Given the description of an element on the screen output the (x, y) to click on. 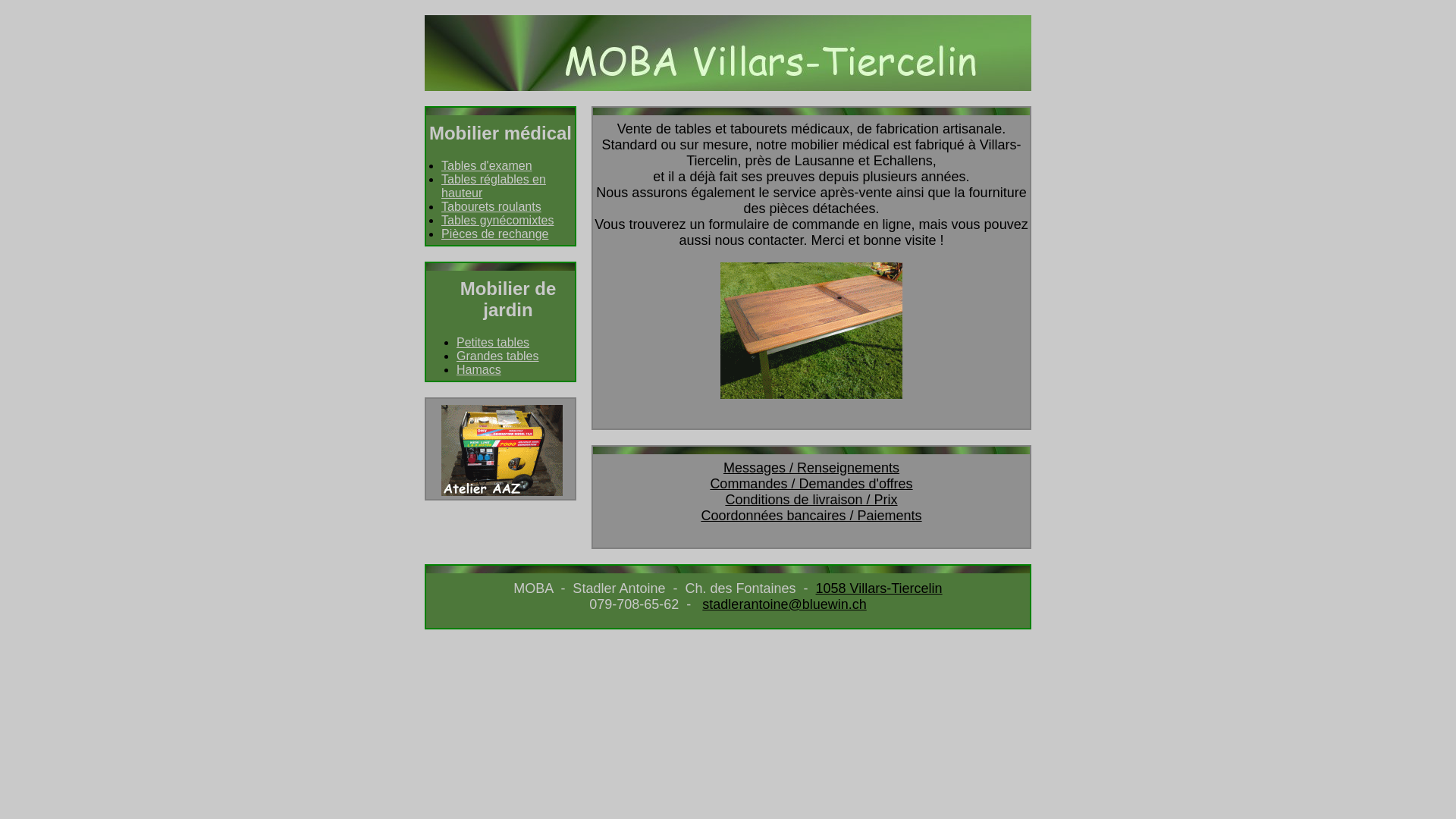
stadlerantoine@bluewin.ch Element type: text (784, 603)
Petites tables Element type: text (492, 341)
Tables d'examen Element type: text (486, 165)
Hamacs Element type: text (478, 369)
Conditions de livraison / Prix Element type: text (810, 499)
Messages / Renseignements Element type: text (811, 467)
Grandes tables Element type: text (497, 355)
Tabourets roulants Element type: text (491, 206)
1058 Villars-Tiercelin Element type: text (878, 588)
Commandes / Demandes d'offres Element type: text (810, 483)
